Given the description of an element on the screen output the (x, y) to click on. 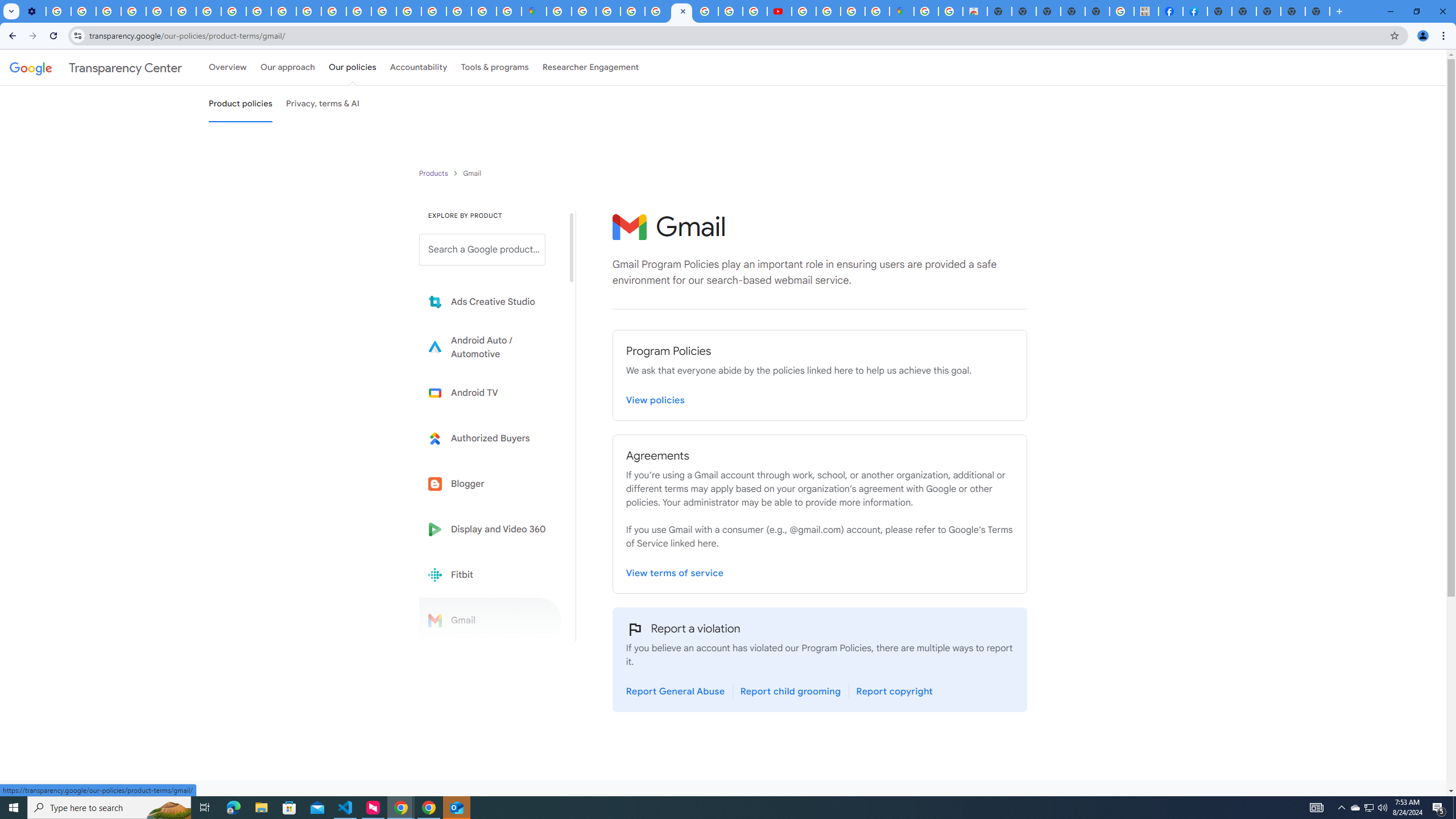
Address and search bar (735, 35)
YouTube (182, 11)
Learn more about Android Auto (490, 347)
Our approach (287, 67)
Search a Google product from below list. (481, 249)
https://scholar.google.com/ (308, 11)
Privacy Help Center - Policies Help (332, 11)
Privacy Help Center - Policies Help (705, 11)
Gmail (490, 619)
